Given the description of an element on the screen output the (x, y) to click on. 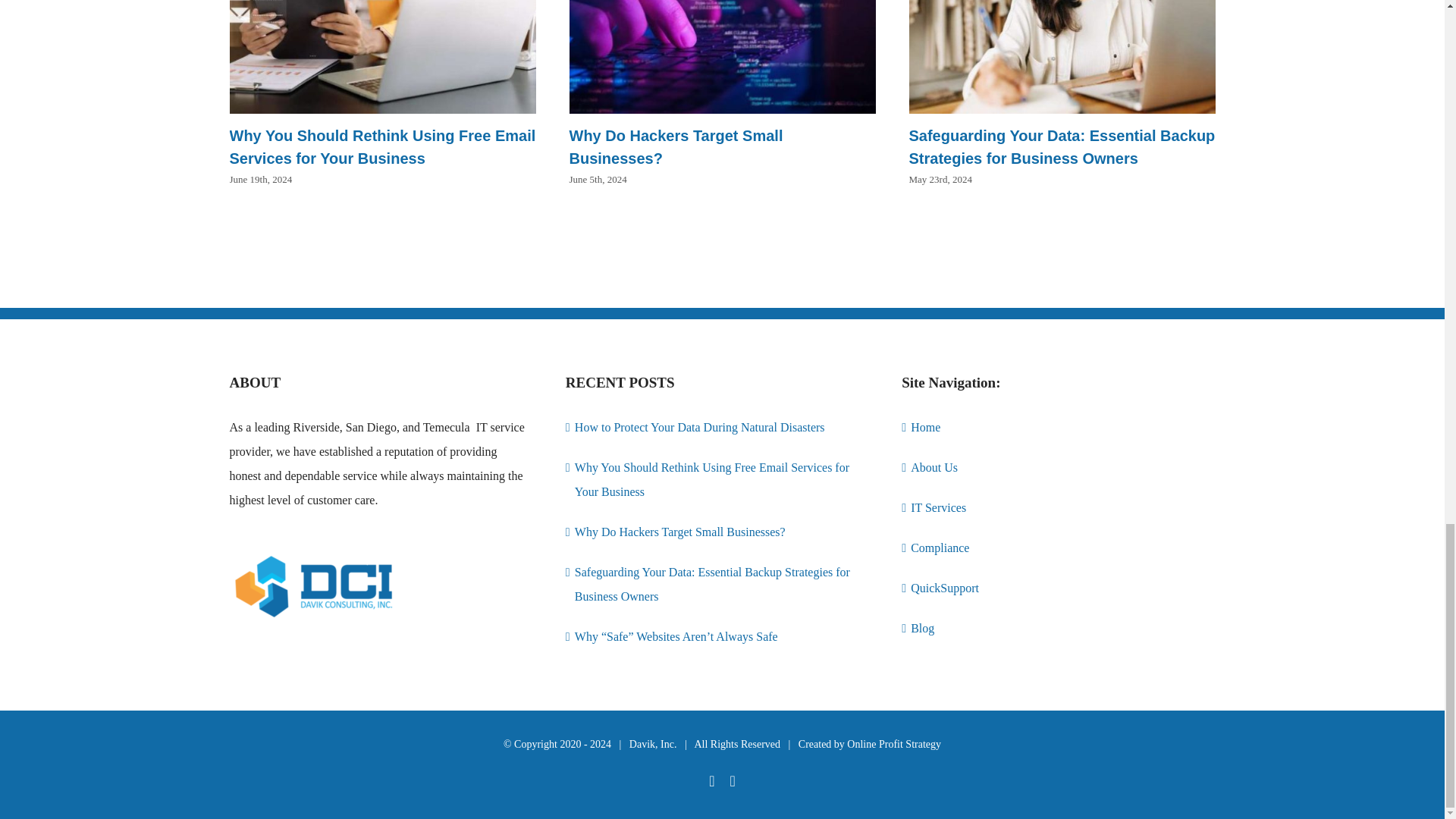
Why Do Hackers Target Small Businesses? (676, 147)
